Given the description of an element on the screen output the (x, y) to click on. 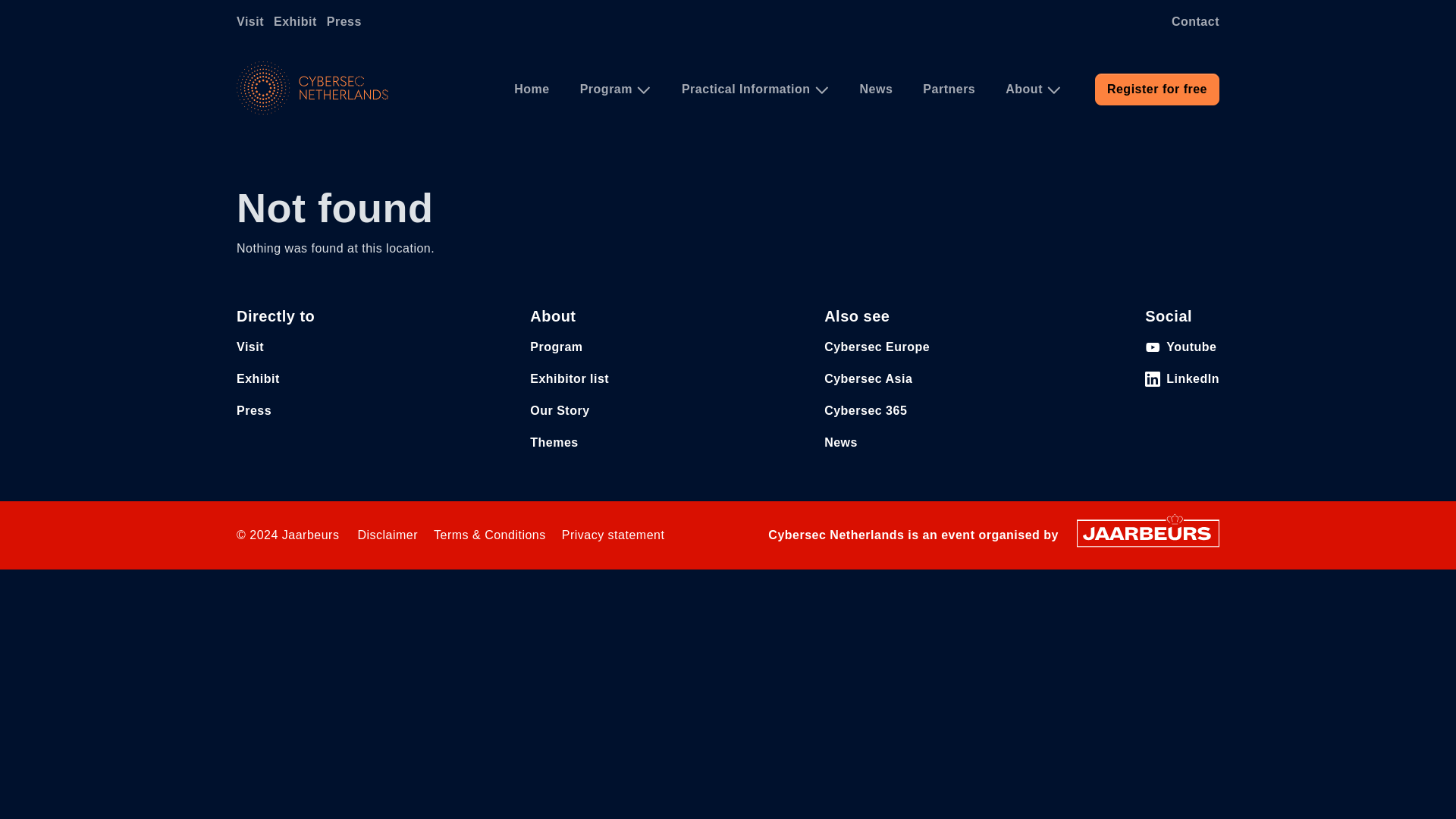
Exhibit (298, 21)
Press (347, 21)
News (876, 89)
Press (347, 21)
Cybersec 365 (865, 410)
Home (531, 89)
Cybersec Asia (868, 378)
Program (615, 89)
Themes (553, 441)
Home (311, 87)
Our Story (559, 410)
Practical Information (755, 89)
Exhibit (257, 378)
Contact (1188, 21)
Visit (252, 21)
